Given the description of an element on the screen output the (x, y) to click on. 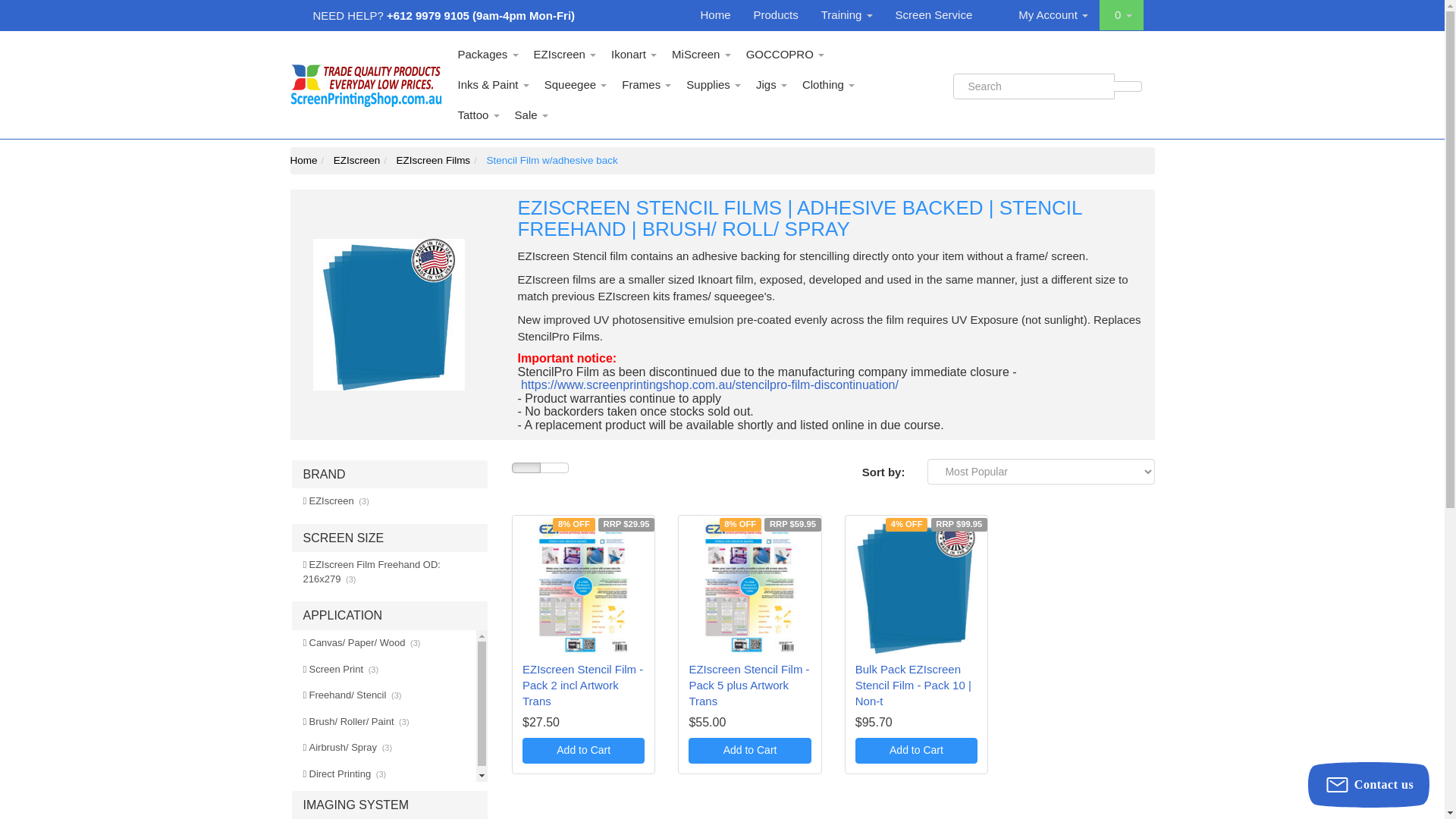
Products (775, 15)
Screen Service (933, 15)
SCREEN PRINTING SHOP (365, 83)
Training (846, 15)
Packages (487, 54)
My Account (1052, 15)
0 (1120, 15)
Home (715, 15)
